Given the description of an element on the screen output the (x, y) to click on. 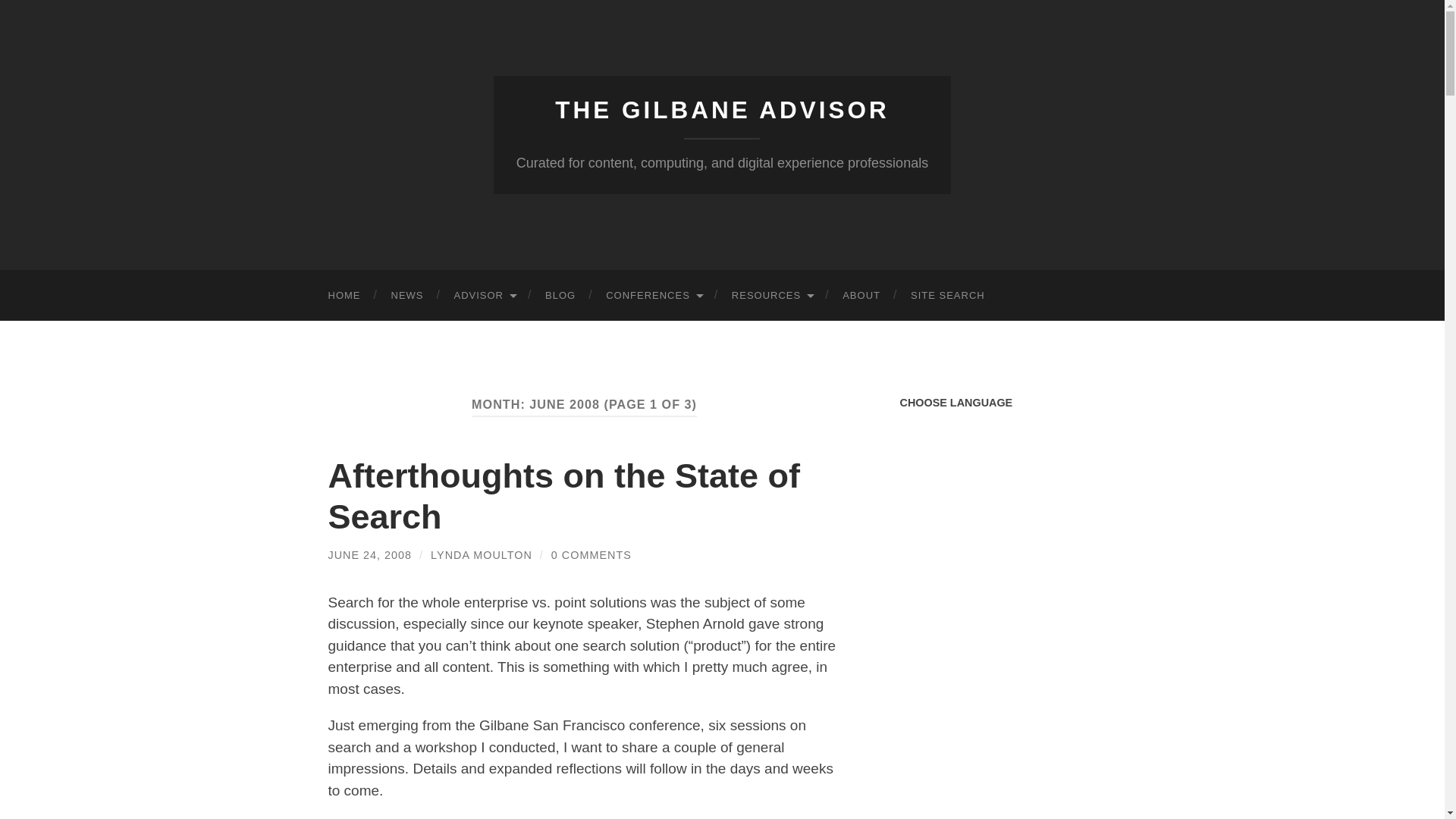
ABOUT (861, 295)
CONFERENCES (653, 295)
ADVISOR (483, 295)
NEWS (407, 295)
SITE SEARCH (947, 295)
HOME (344, 295)
Posts by Lynda Moulton (481, 554)
BLOG (560, 295)
RESOURCES (771, 295)
THE GILBANE ADVISOR (721, 109)
